Given the description of an element on the screen output the (x, y) to click on. 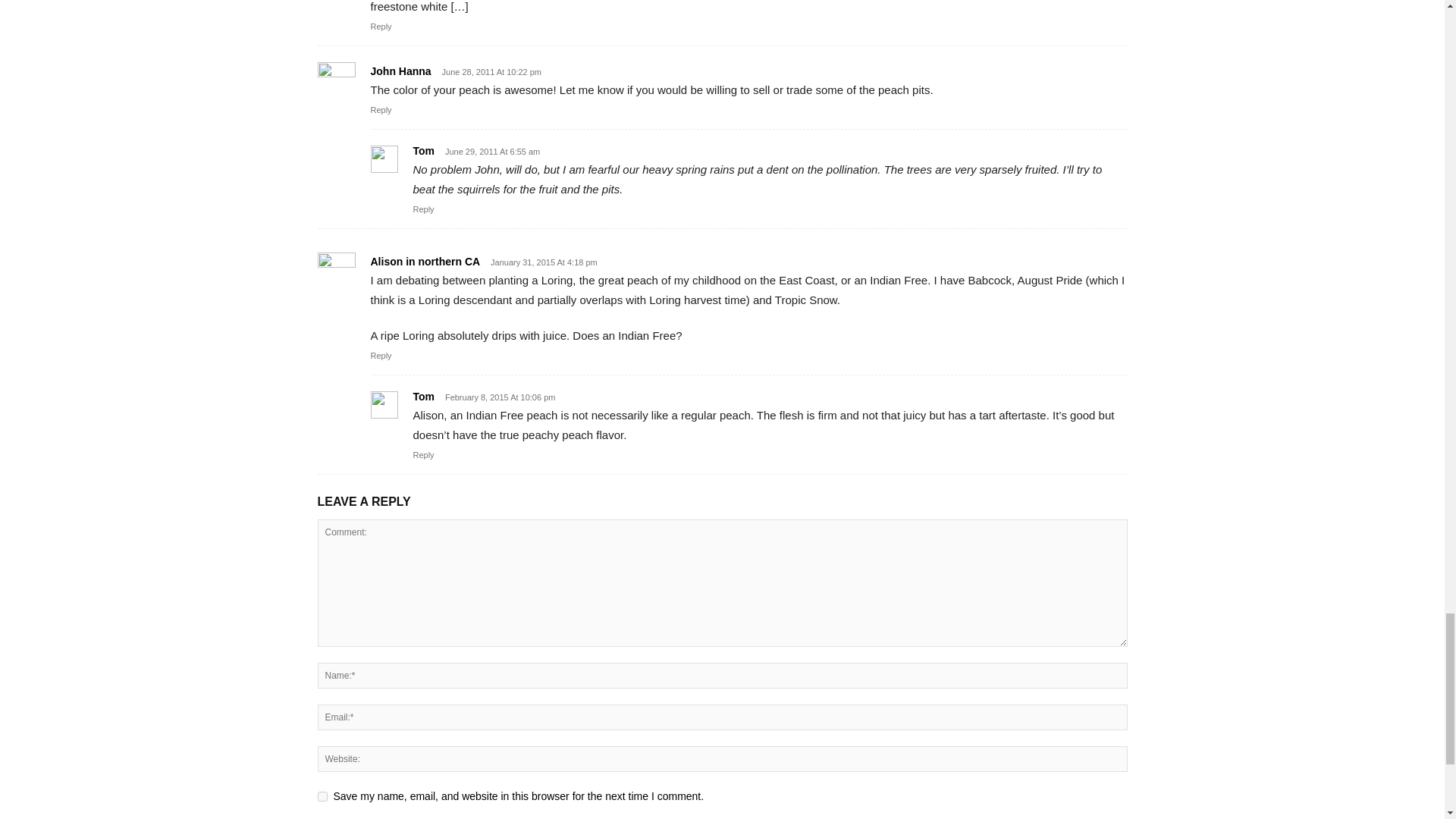
yes (321, 796)
